Given the description of an element on the screen output the (x, y) to click on. 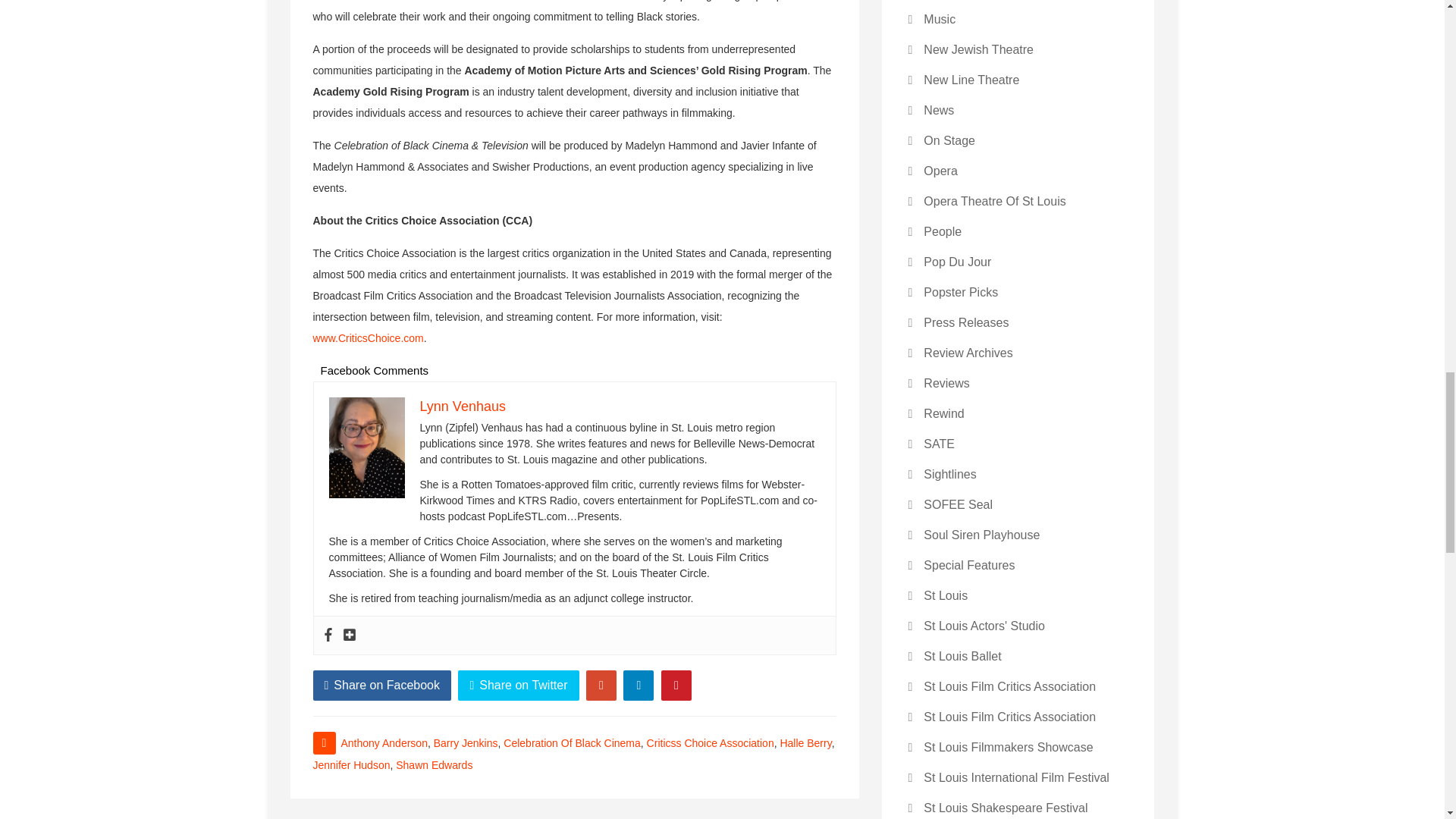
Facebook (327, 635)
Lynn Venhaus (462, 406)
www.CriticsChoice.com (368, 337)
Share on Facebook (382, 685)
